Given the description of an element on the screen output the (x, y) to click on. 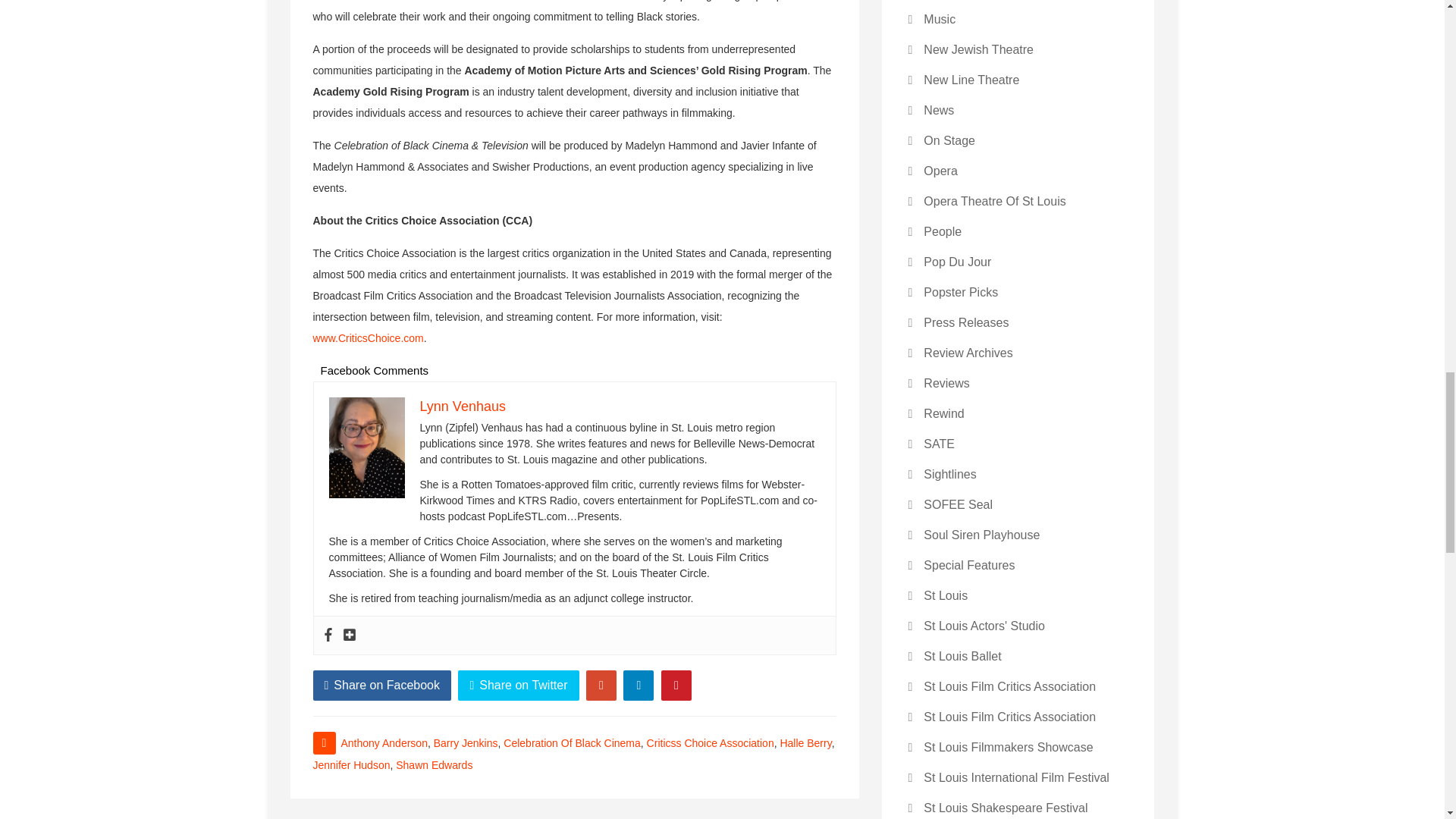
Facebook (327, 635)
Lynn Venhaus (462, 406)
www.CriticsChoice.com (368, 337)
Share on Facebook (382, 685)
